Given the description of an element on the screen output the (x, y) to click on. 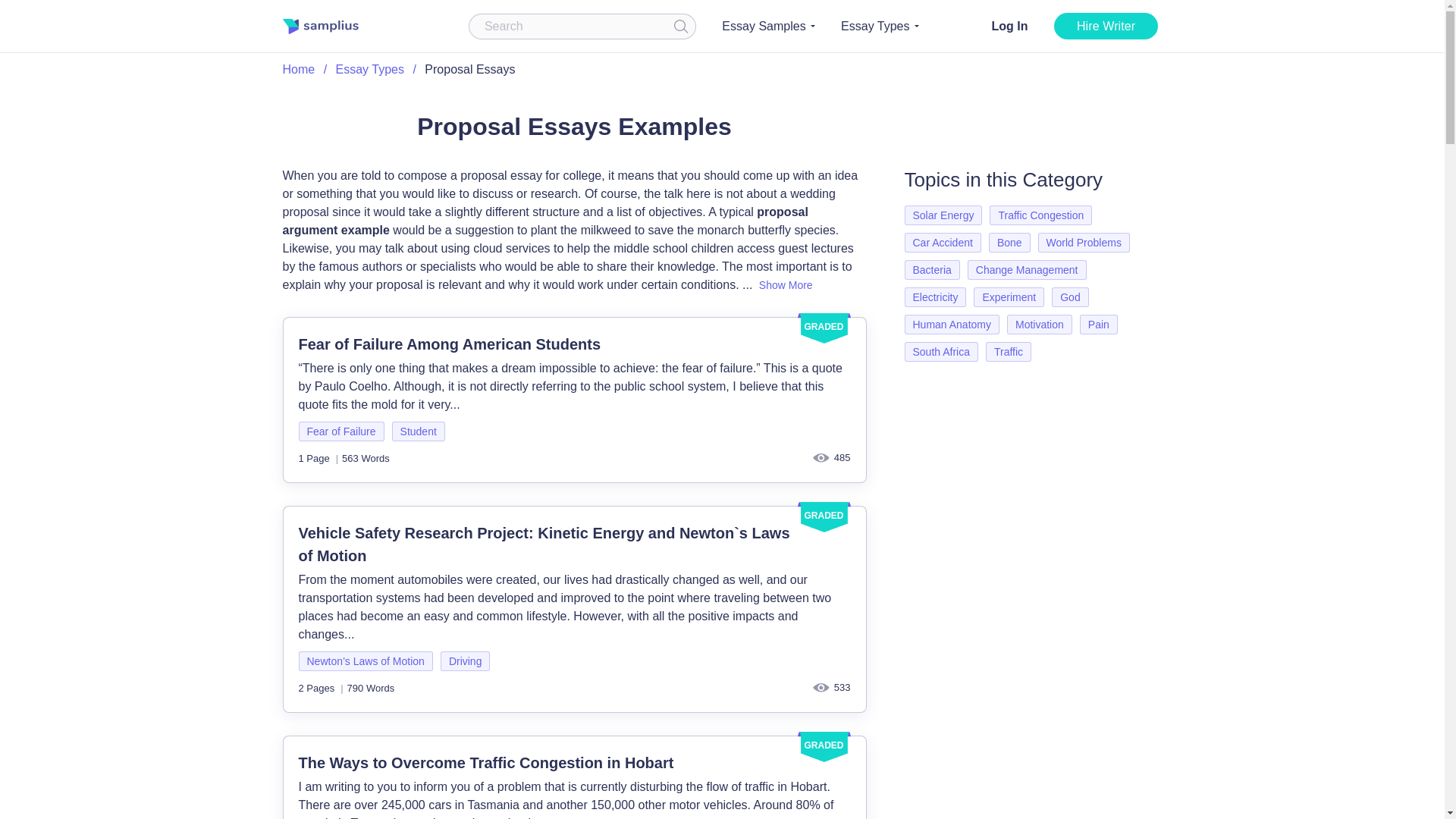
Essay Samples (767, 25)
Essay Types (879, 25)
Samplius - Free essays (320, 26)
